Given the description of an element on the screen output the (x, y) to click on. 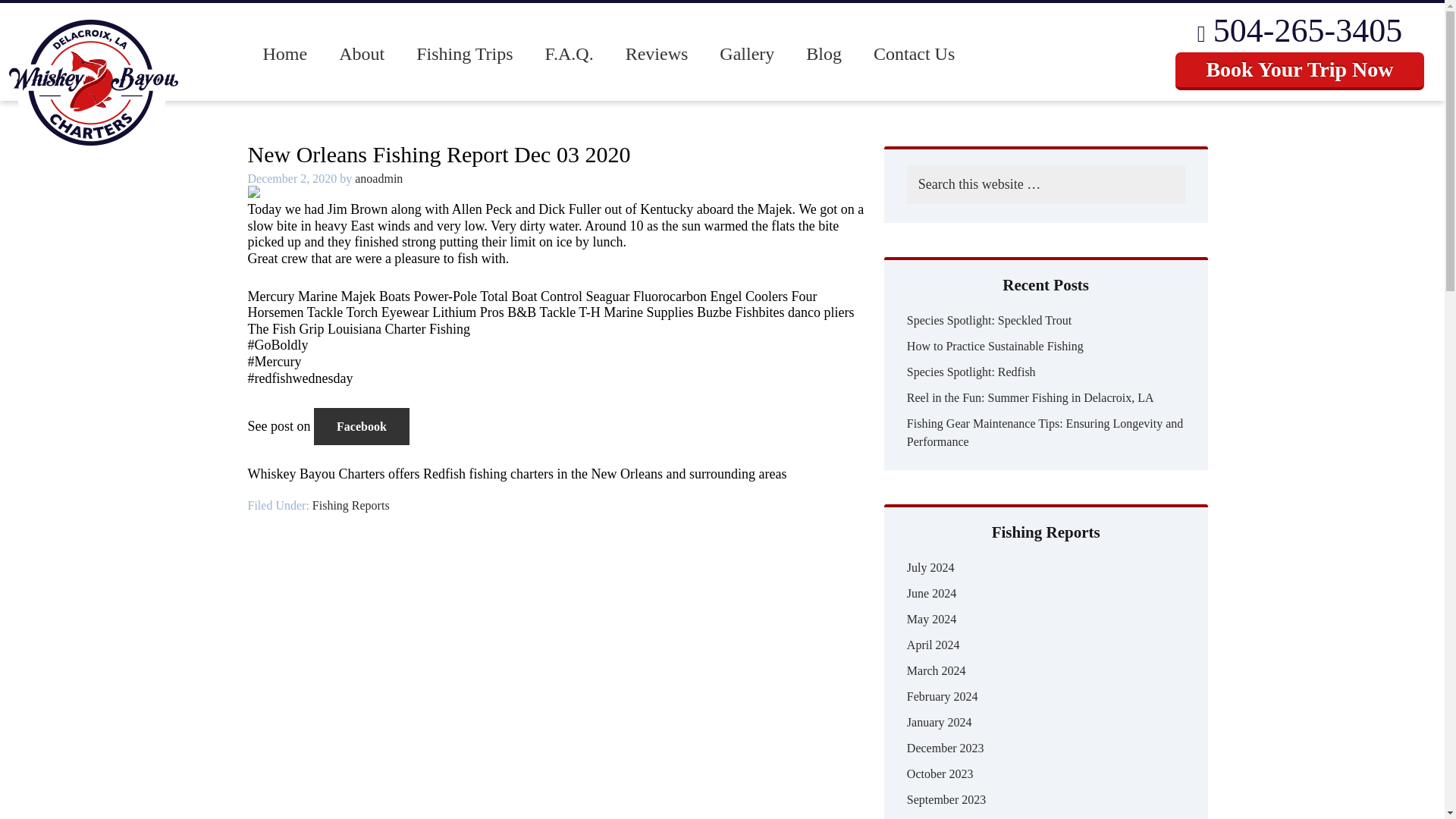
Gallery (746, 54)
May 2024 (931, 618)
F.A.Q. (569, 54)
Book Your Trip Now (1298, 71)
About (361, 54)
October 2023 (940, 773)
Home (284, 54)
Whiskey Bayou Charters (37, 181)
December 2023 (945, 748)
September 2023 (946, 799)
Contact Us (913, 54)
Species Spotlight: Speckled Trout (989, 319)
February 2024 (942, 696)
